Given the description of an element on the screen output the (x, y) to click on. 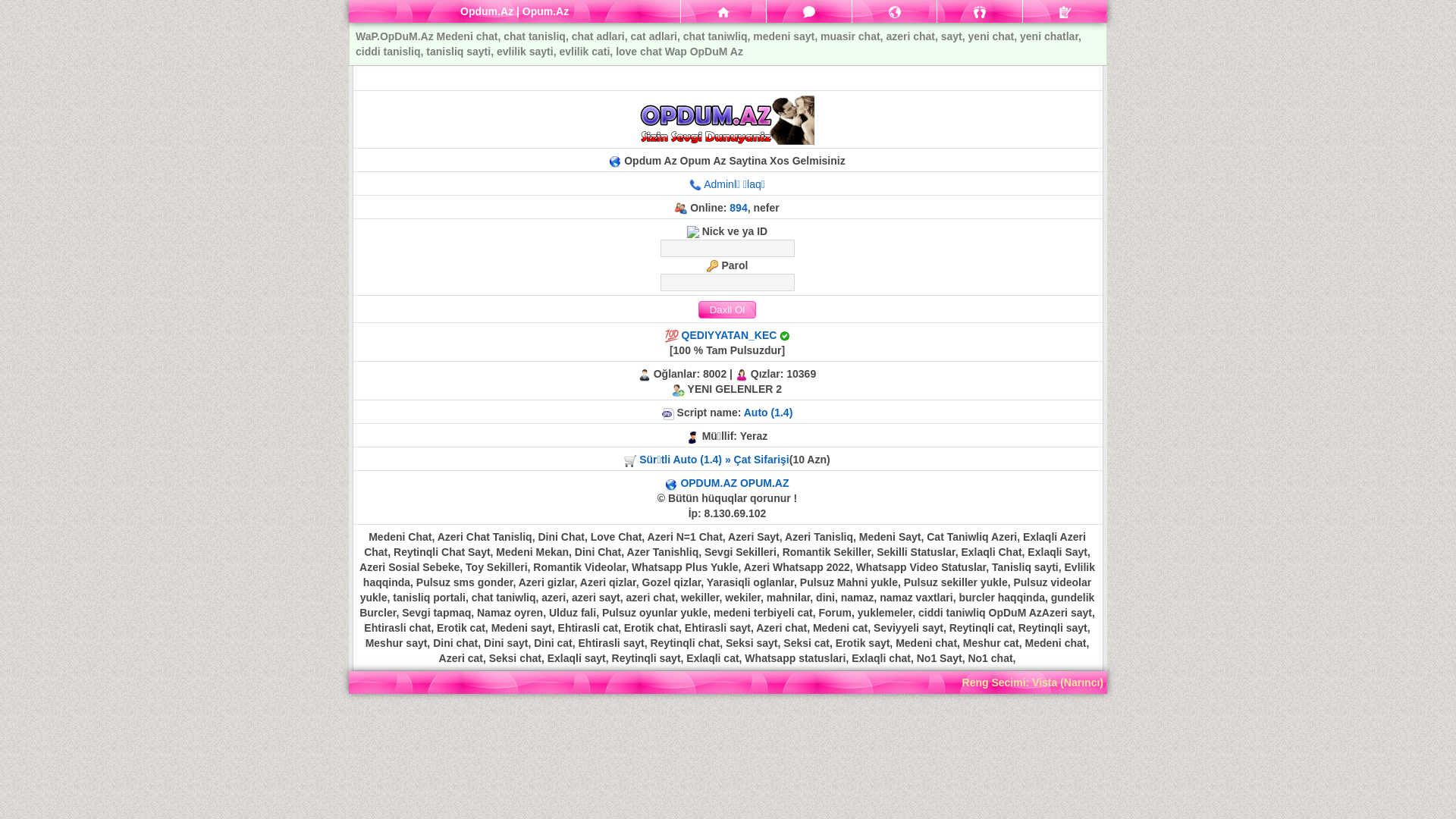
Bildirisler Element type: hover (894, 11)
QEDIYYATAN_KEC Element type: text (729, 335)
Qonaqlar Element type: hover (979, 11)
894 Element type: text (737, 207)
Auto (1.4) Element type: text (768, 412)
nick Element type: hover (726, 248)
Daxil Ol Element type: text (726, 309)
Qeydiyyat Element type: hover (1064, 11)
Parol Element type: hover (726, 282)
Mesajlar Element type: hover (808, 11)
OPDUM.AZ OPUM.AZ Element type: text (734, 482)
